Given the description of an element on the screen output the (x, y) to click on. 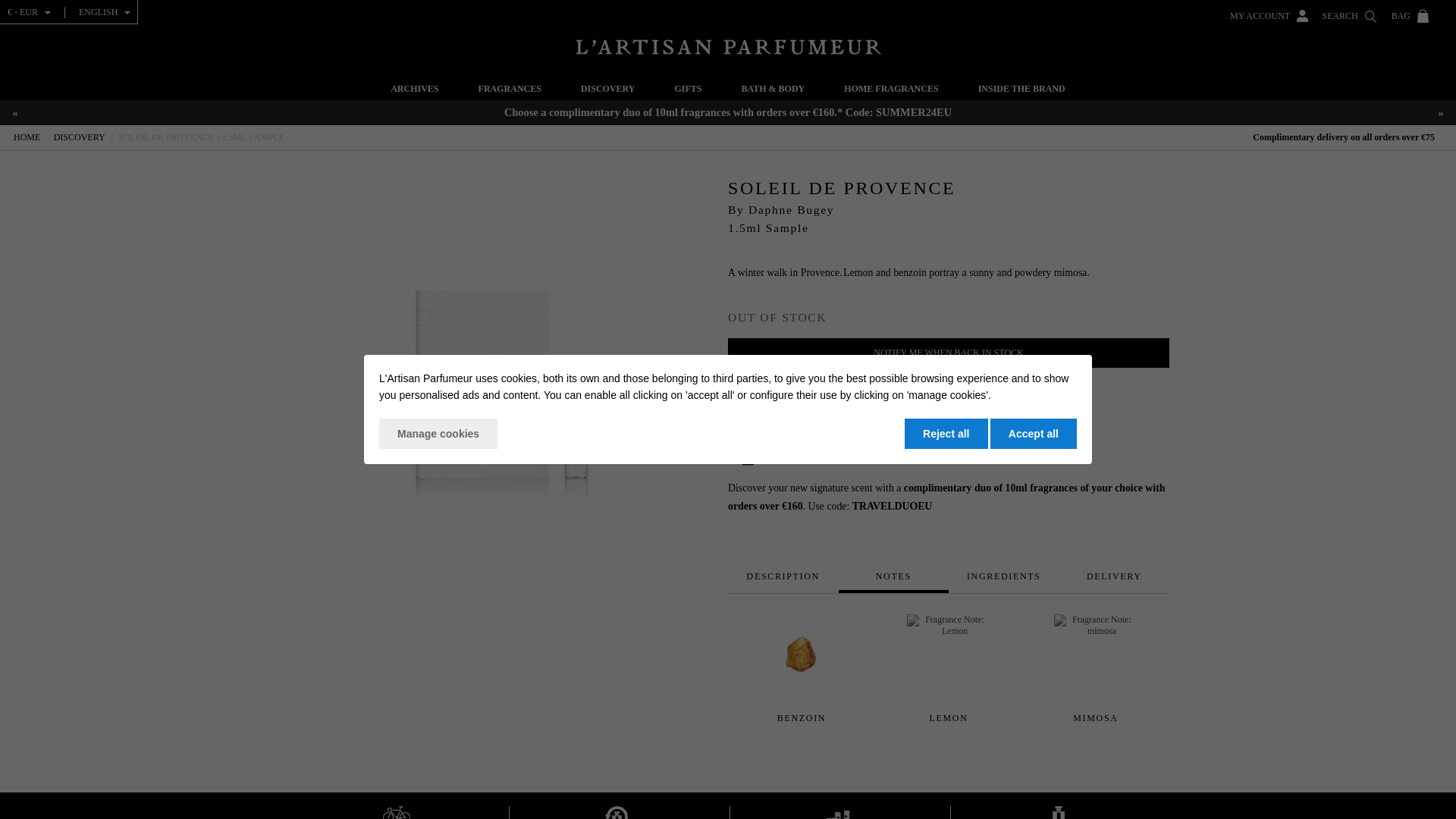
MY ACCOUNT (1268, 11)
FRAGRANCES (510, 90)
ARCHIVES (414, 90)
L'Artisan Parfumeur EUR (728, 46)
